Given the description of an element on the screen output the (x, y) to click on. 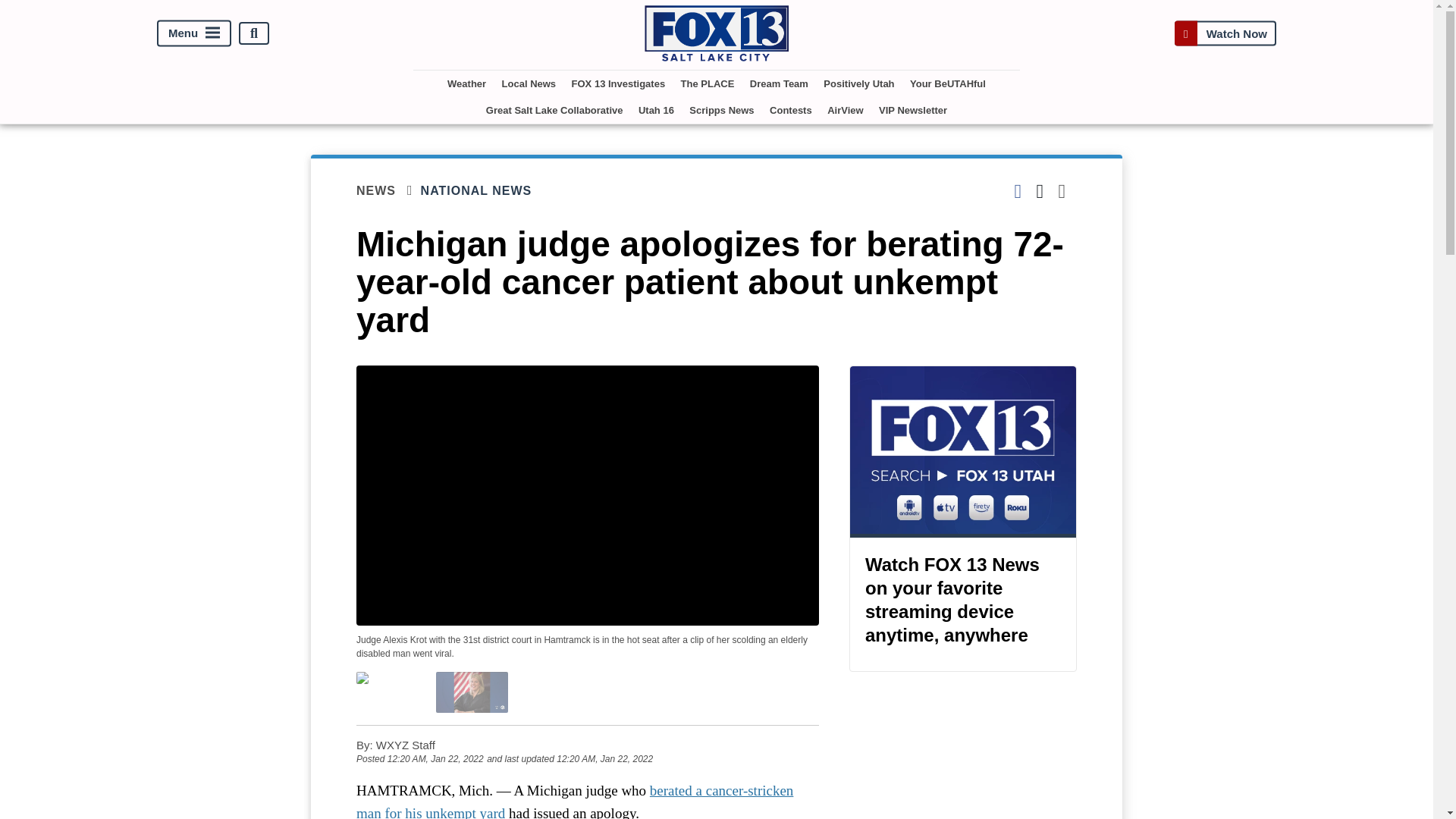
Menu (194, 33)
Watch Now (1224, 33)
